Given the description of an element on the screen output the (x, y) to click on. 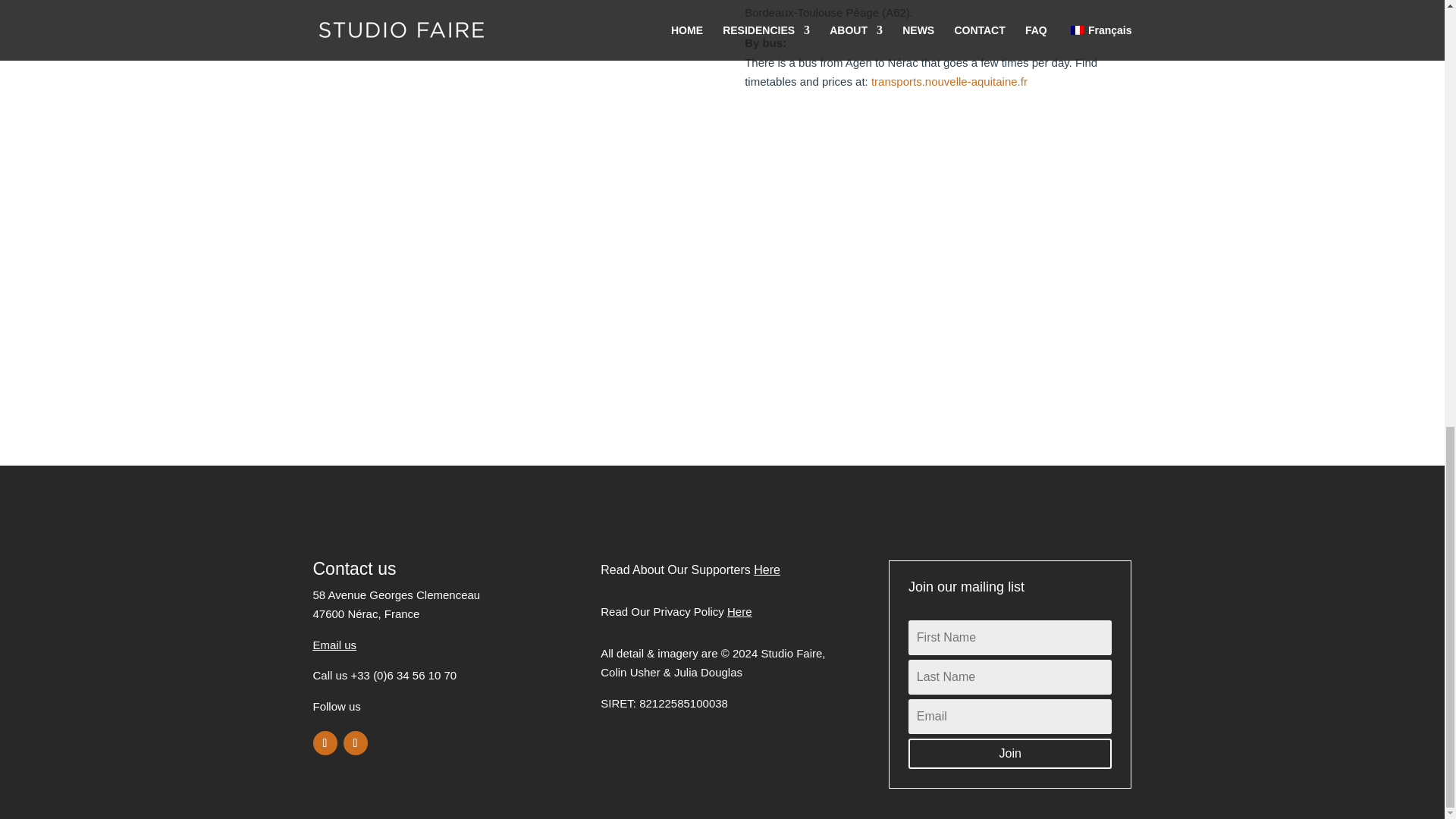
Follow on Instagram (354, 743)
Follow on Facebook (324, 743)
